Given the description of an element on the screen output the (x, y) to click on. 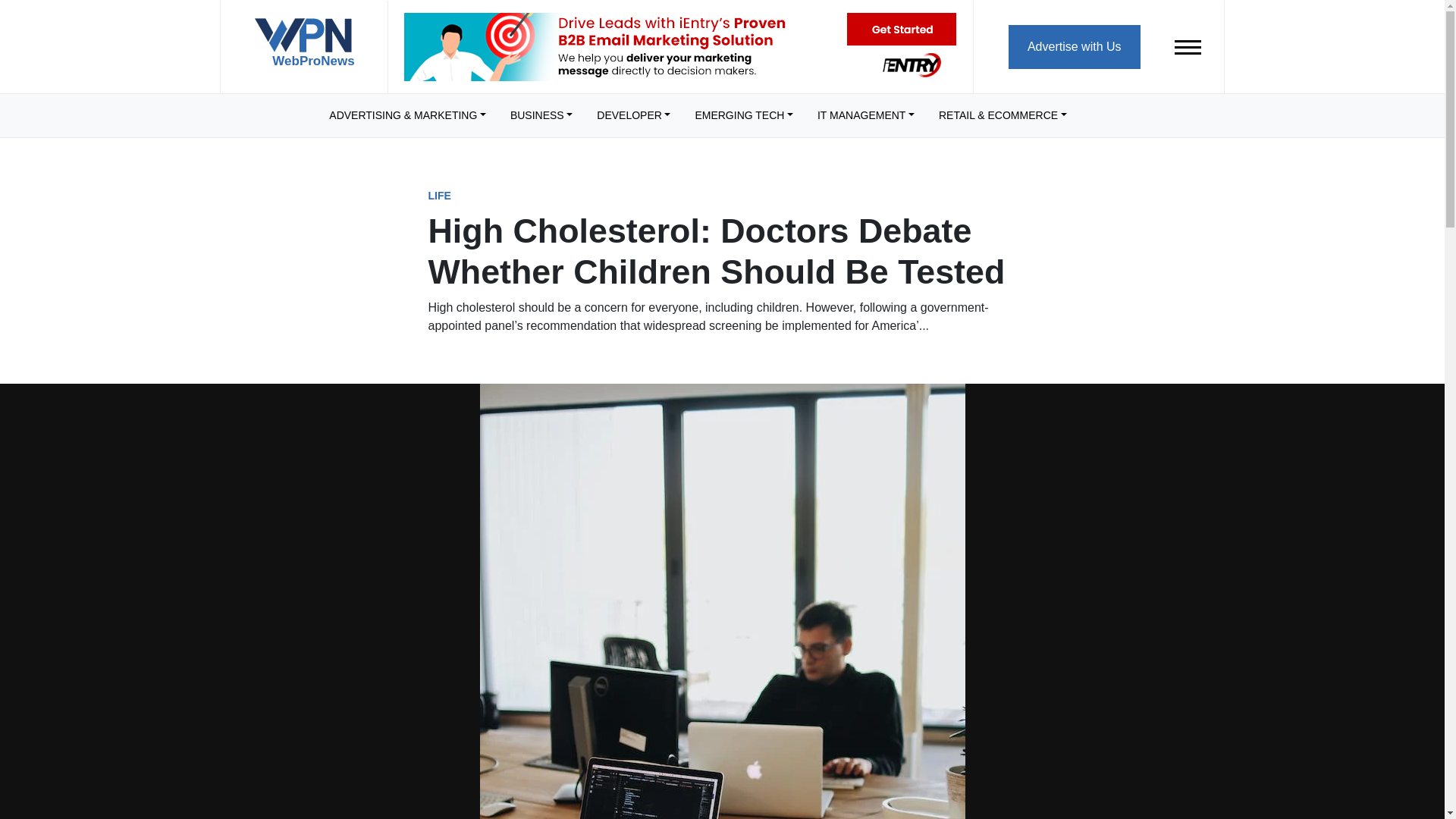
Advertise with Us (1074, 45)
WebProNews (303, 49)
